Given the description of an element on the screen output the (x, y) to click on. 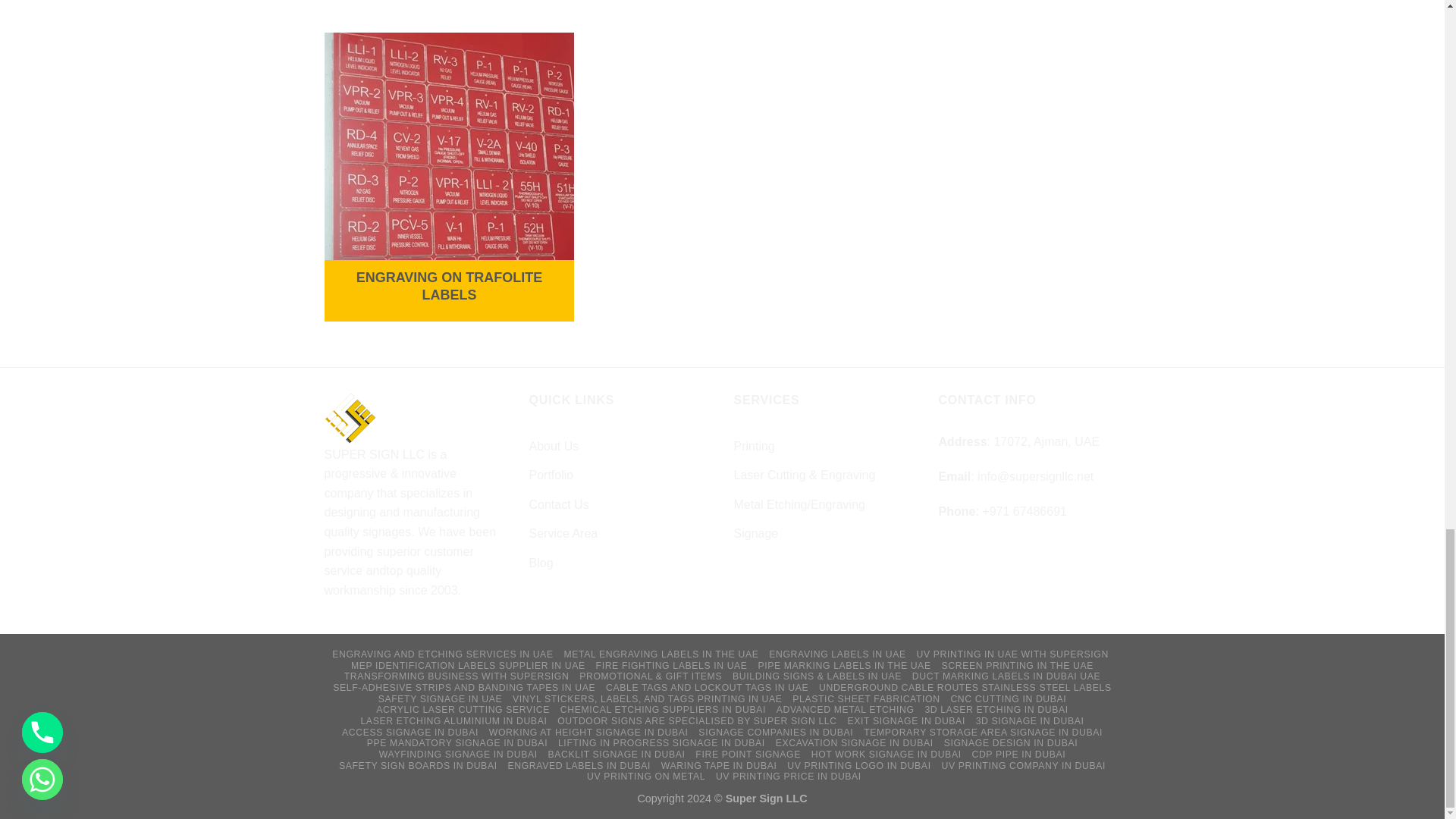
TRANSFORMING BUSINESS WITH SUPERSIGN (456, 675)
Portfolio (551, 475)
MEP IDENTIFICATION LABELS SUPPLIER IN UAE (467, 665)
Service Area (563, 533)
ENGRAVING AND ETCHING SERVICES IN UAE (442, 654)
ENGRAVING LABELS IN UAE (836, 654)
FIRE FIGHTING LABELS IN UAE (671, 665)
SCREEN PRINTING IN THE UAE (1016, 665)
Signage (755, 533)
About Us (554, 446)
